Given the description of an element on the screen output the (x, y) to click on. 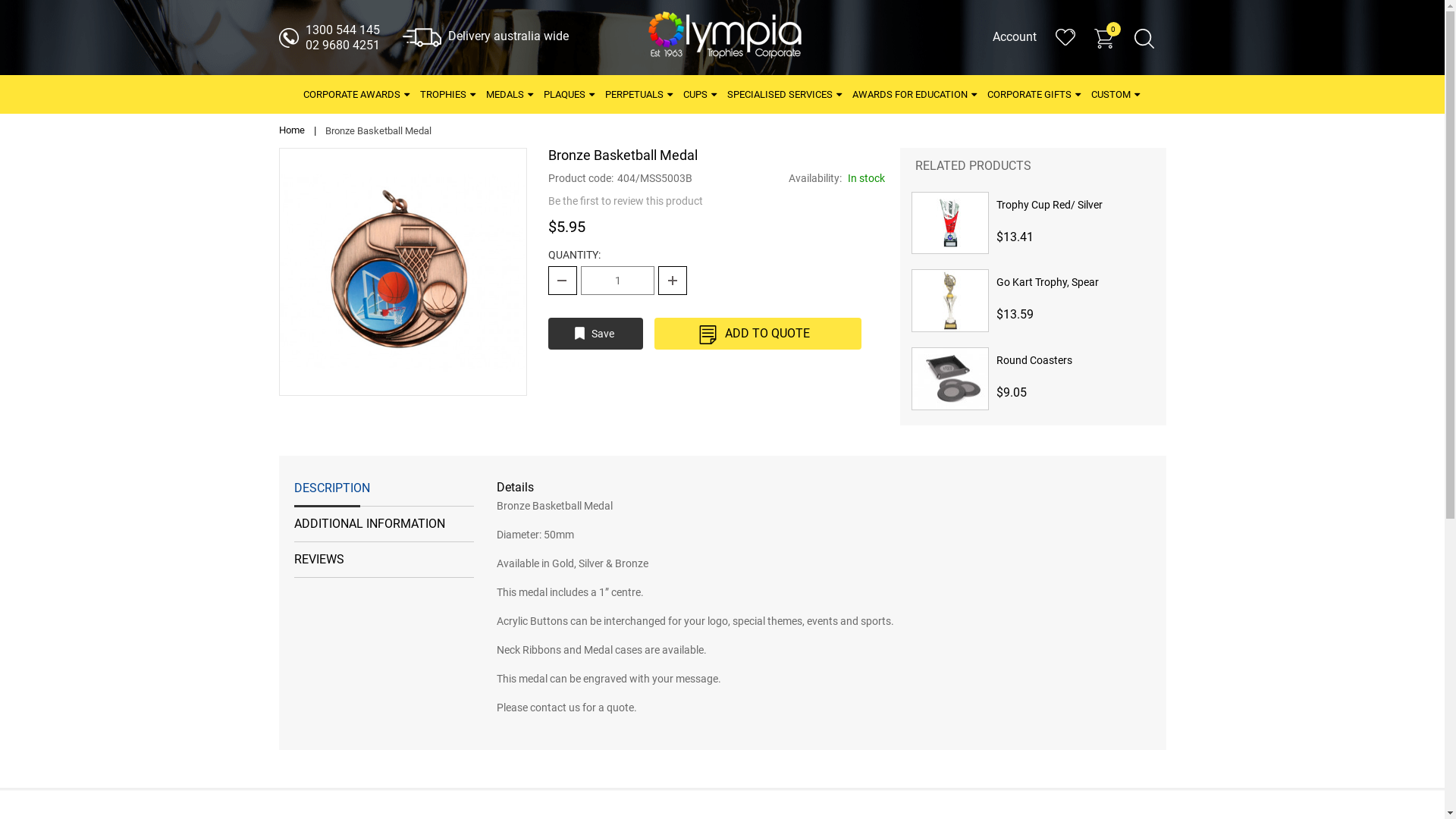
Trophy Cup Red/ Silver Element type: text (1075, 212)
Be the first to review this product Element type: text (625, 200)
TROPHIES Element type: text (448, 94)
1300 544 145 Element type: text (341, 29)
PERPETUALS Element type: text (639, 94)
CORPORATE AWARDS Element type: text (356, 94)
ADDITIONAL INFORMATION Element type: text (383, 524)
CUPS Element type: text (700, 94)
CUSTOM Element type: text (1115, 94)
0 Element type: text (1113, 28)
PLAQUES Element type: text (569, 94)
DESCRIPTION Element type: text (383, 488)
SPECIALISED SERVICES Element type: text (784, 94)
CORPORATE GIFTS Element type: text (1034, 94)
02 9680 4251 Element type: text (341, 44)
Save Element type: text (595, 333)
Home Element type: text (291, 130)
Round Coasters Element type: text (1075, 367)
Qty Element type: hover (617, 280)
AWARDS FOR EDUCATION Element type: text (914, 94)
MEDALS Element type: text (510, 94)
REVIEWS Element type: text (383, 559)
ADD TO QUOTE Element type: text (757, 333)
08. Bronze Basketball Medal Element type: hover (402, 271)
Go Kart Trophy, Spear Element type: text (1075, 289)
